Given the description of an element on the screen output the (x, y) to click on. 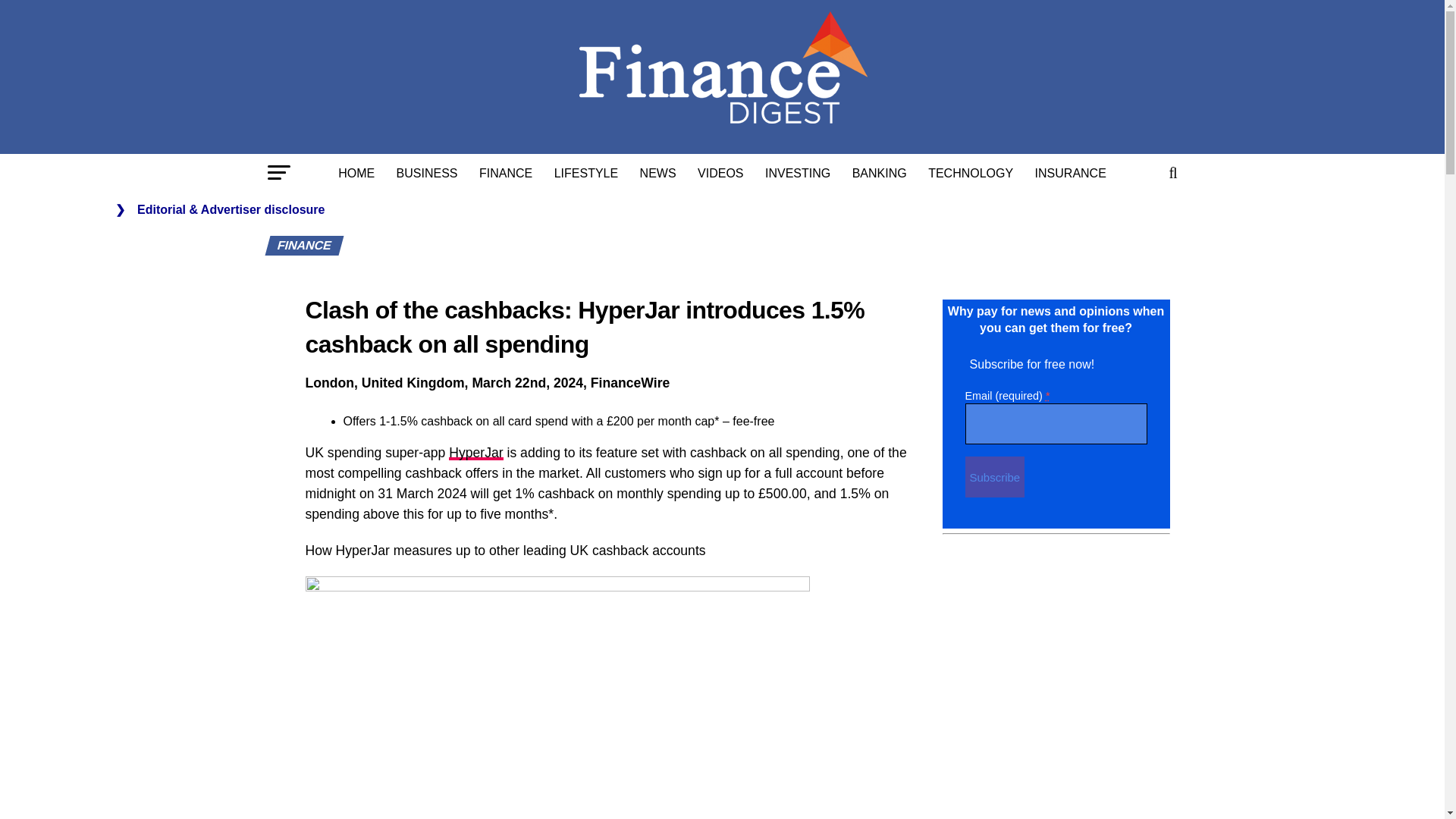
LIFESTYLE (585, 173)
NEWS (657, 173)
VIDEOS (720, 173)
Finance (505, 173)
News (657, 173)
Home (356, 173)
FINANCE (505, 173)
HOME (356, 173)
BUSINESS (427, 173)
Subscribe (994, 476)
Lifestyle (585, 173)
Business (427, 173)
